Given the description of an element on the screen output the (x, y) to click on. 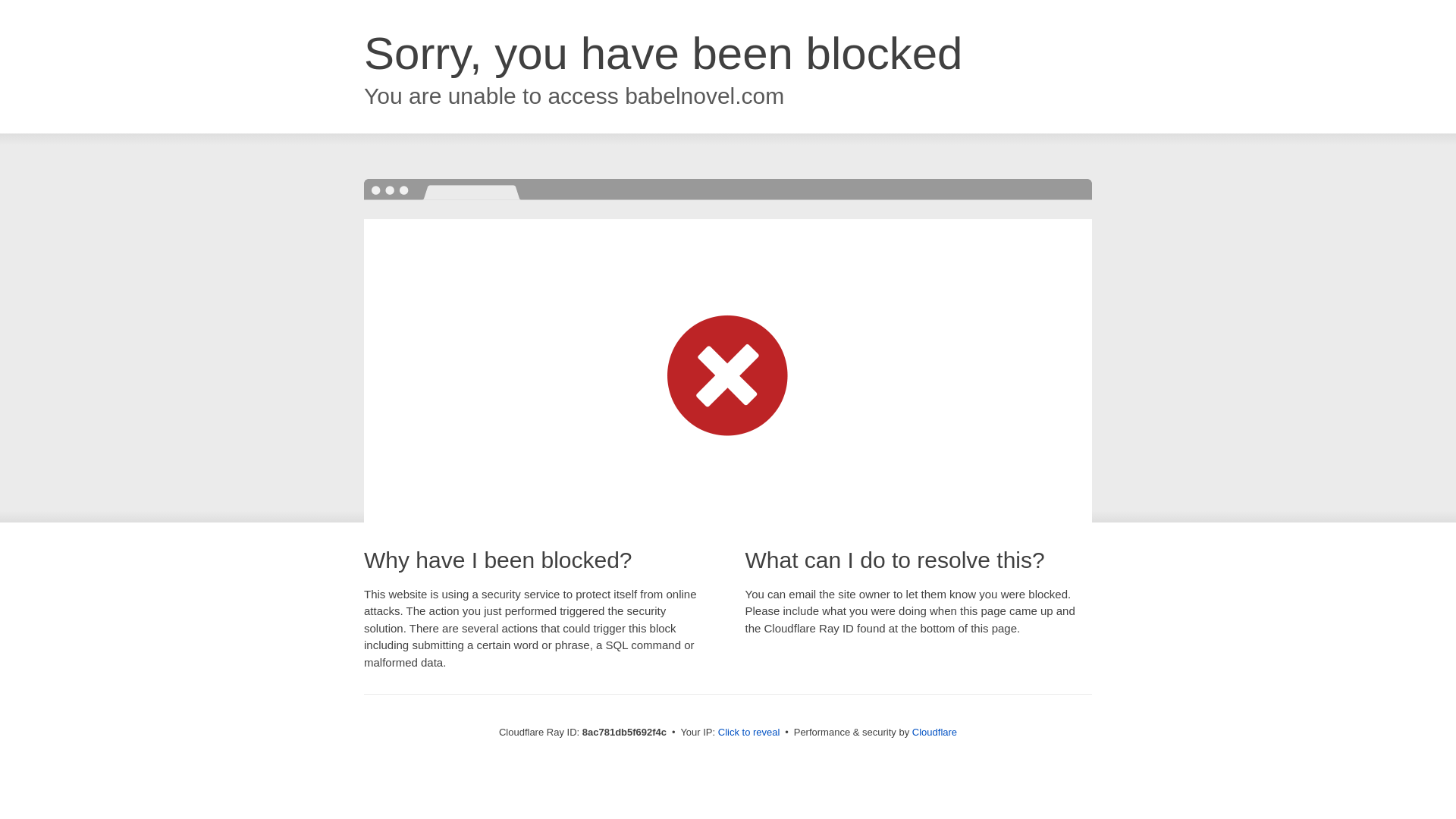
Click to reveal (748, 732)
Cloudflare (934, 731)
